Given the description of an element on the screen output the (x, y) to click on. 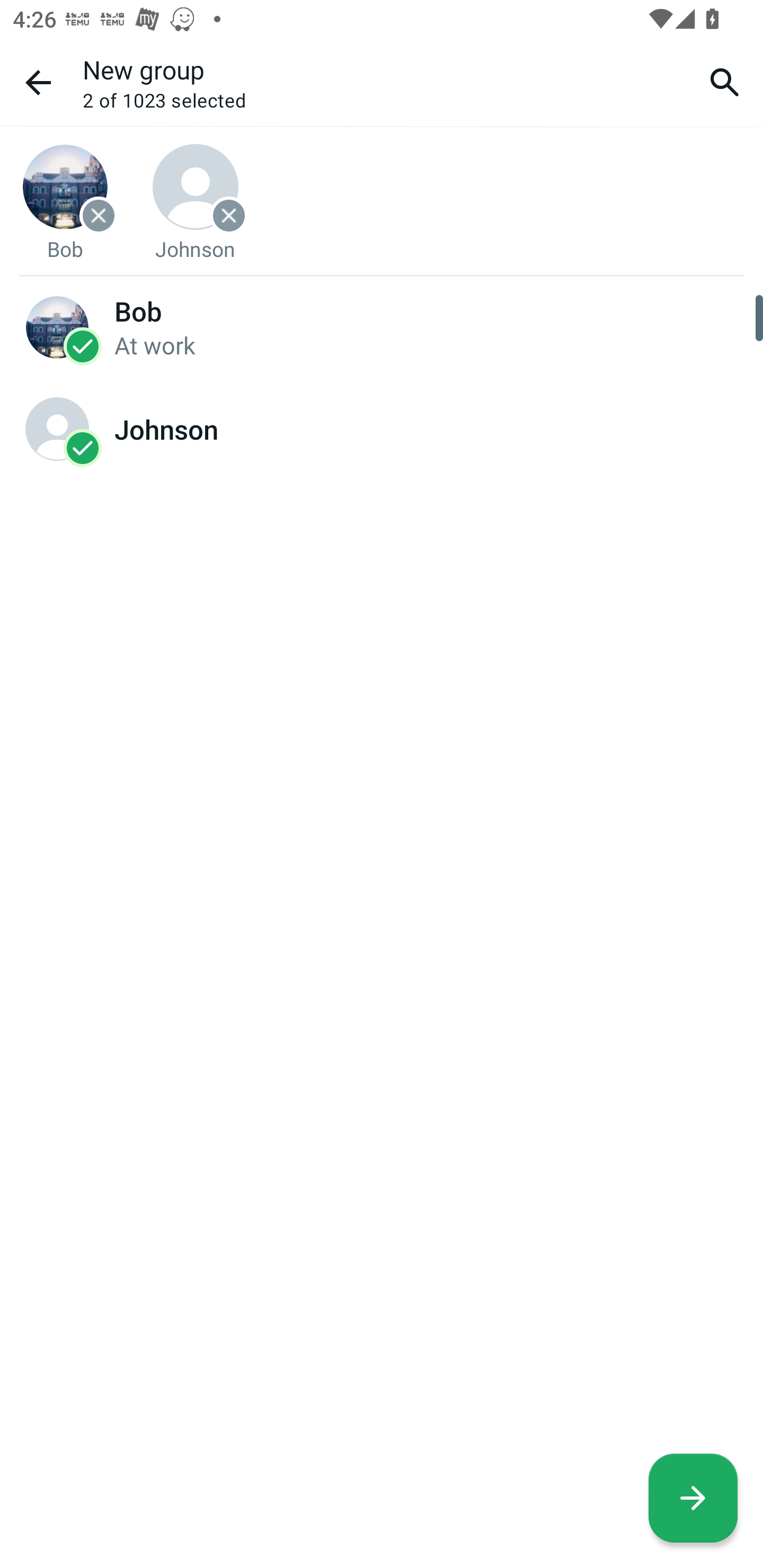
Navigate up (38, 82)
Search (724, 81)
Bob is selected Remove Bob (65, 202)
Johnson is selected Remove Johnson (195, 202)
Bob Selected Bob ‎At work (381, 326)
Johnson Selected Johnson (381, 428)
Next (692, 1497)
